Given the description of an element on the screen output the (x, y) to click on. 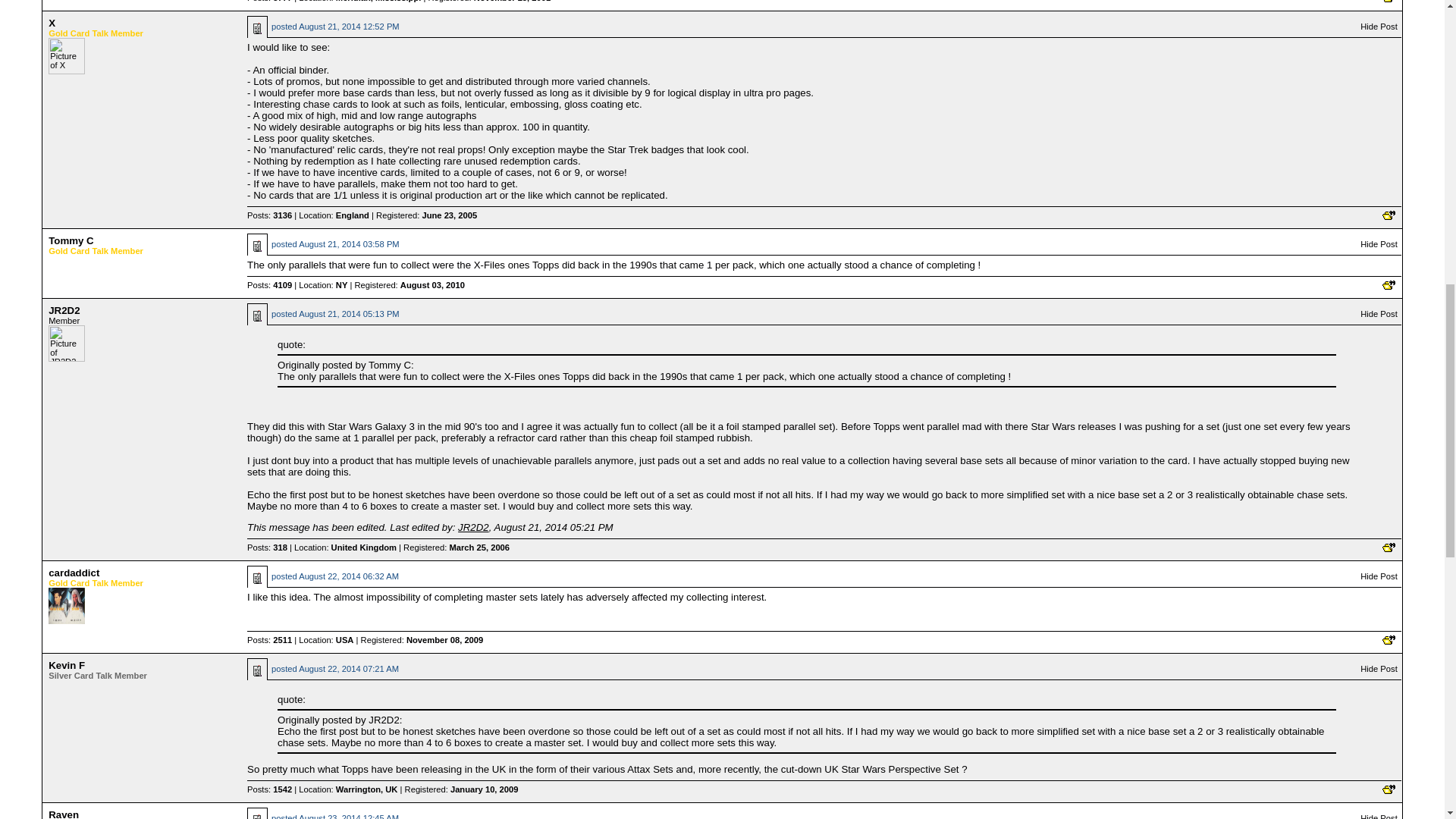
Reply With Quote (1387, 215)
Picture of X (66, 55)
Reply With Quote (1387, 284)
